Given the description of an element on the screen output the (x, y) to click on. 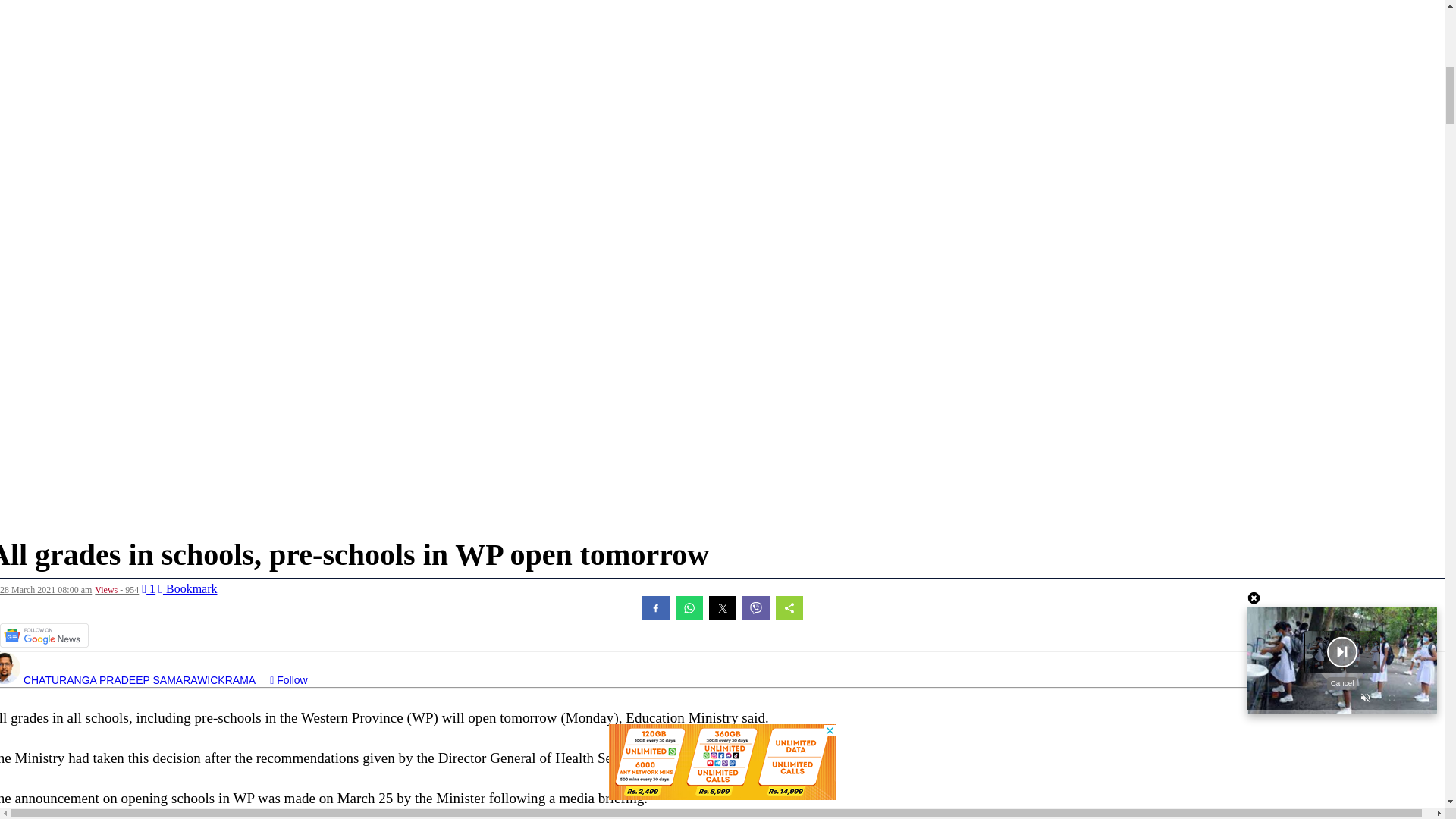
3rd party ad content (721, 403)
3rd party ad content (721, 132)
3rd party ad content (721, 486)
3rd party ad content (721, 38)
